Given the description of an element on the screen output the (x, y) to click on. 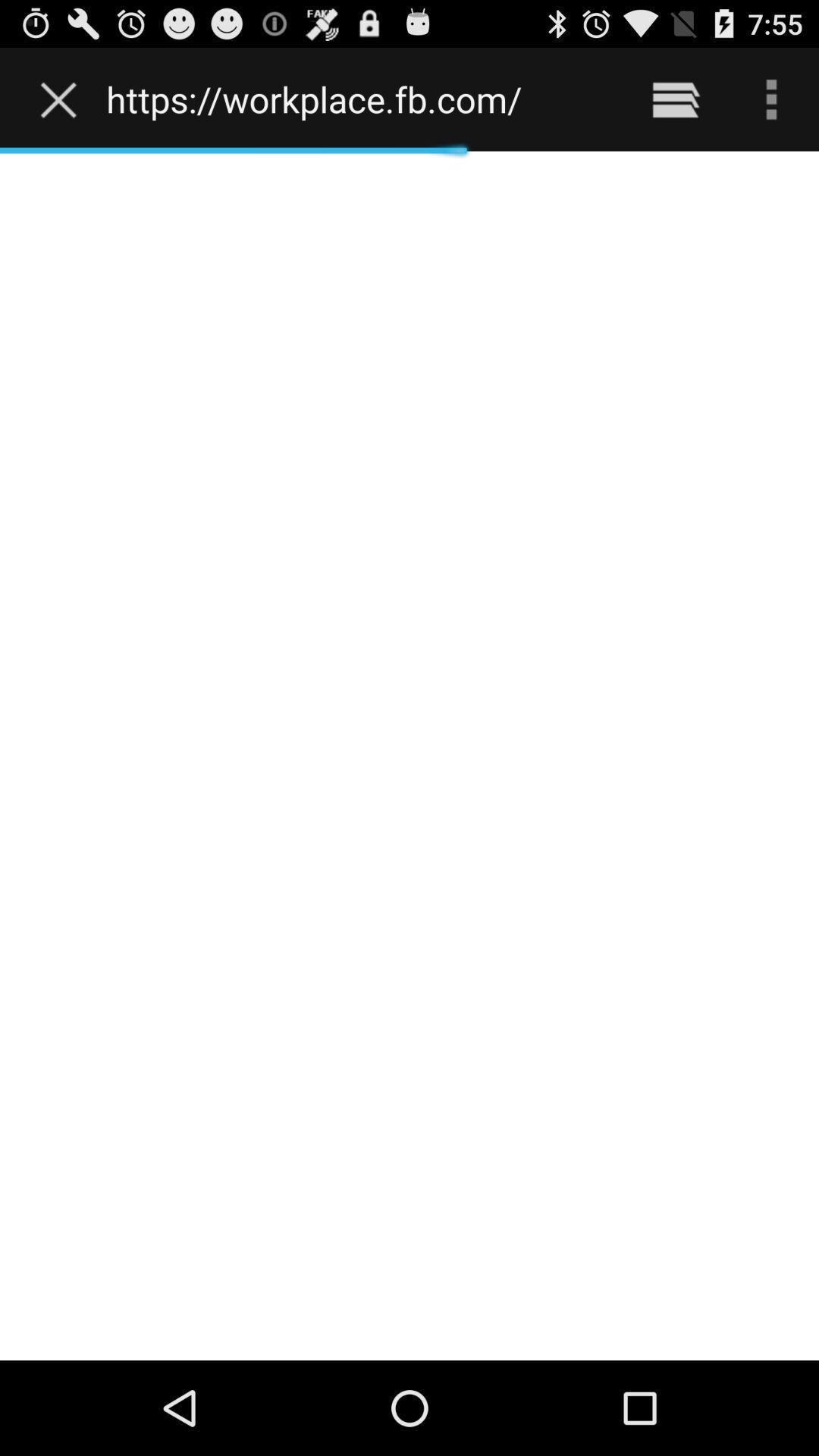
press item at the center (409, 755)
